Given the description of an element on the screen output the (x, y) to click on. 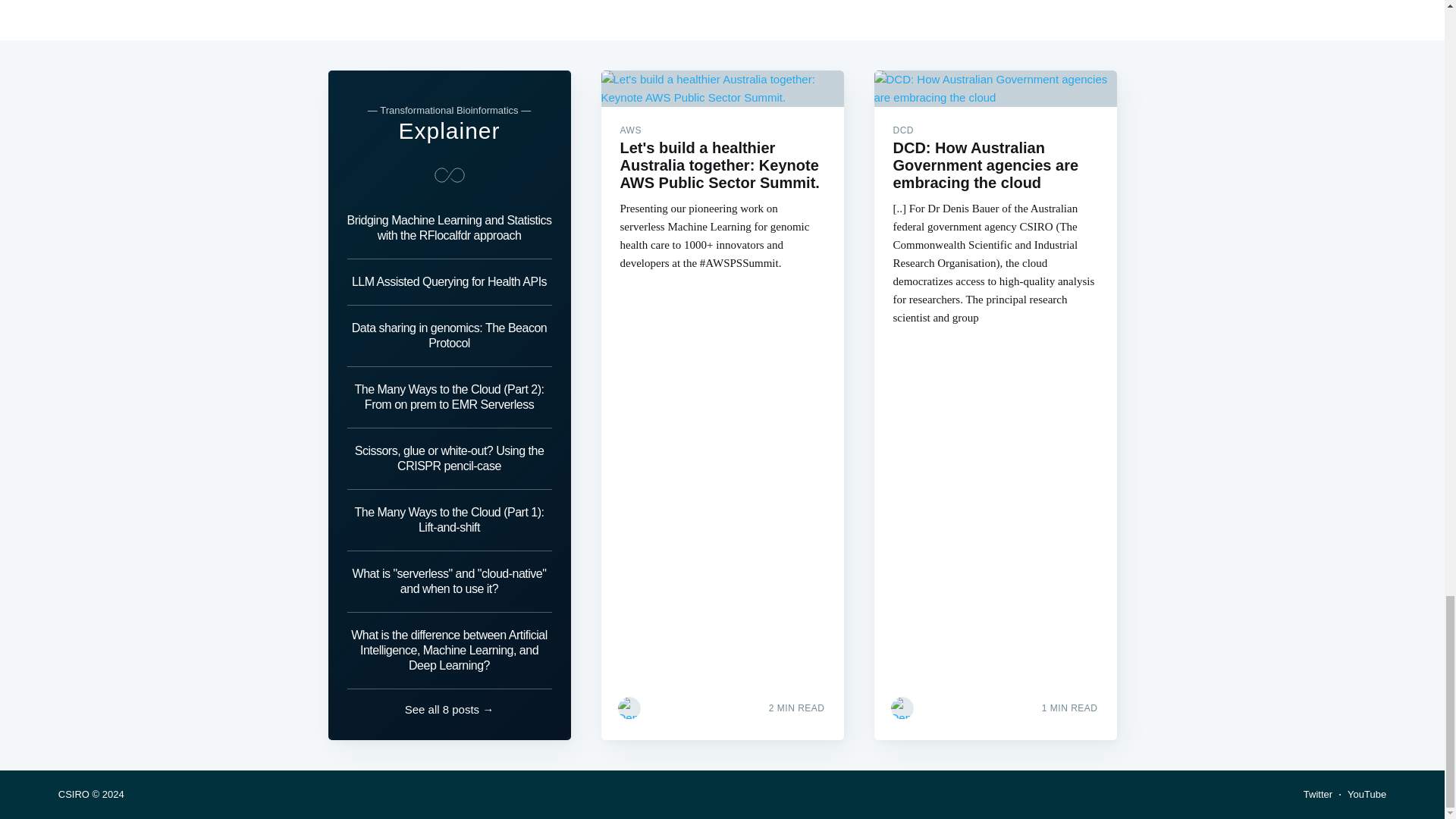
What is "serverless" and "cloud-native" and when to use it? (449, 581)
Explainer (448, 130)
Scissors, glue or white-out? Using the CRISPR pencil-case (449, 458)
Data sharing in genomics: The Beacon Protocol (449, 335)
LLM Assisted Querying for Health APIs (449, 282)
